Given the description of an element on the screen output the (x, y) to click on. 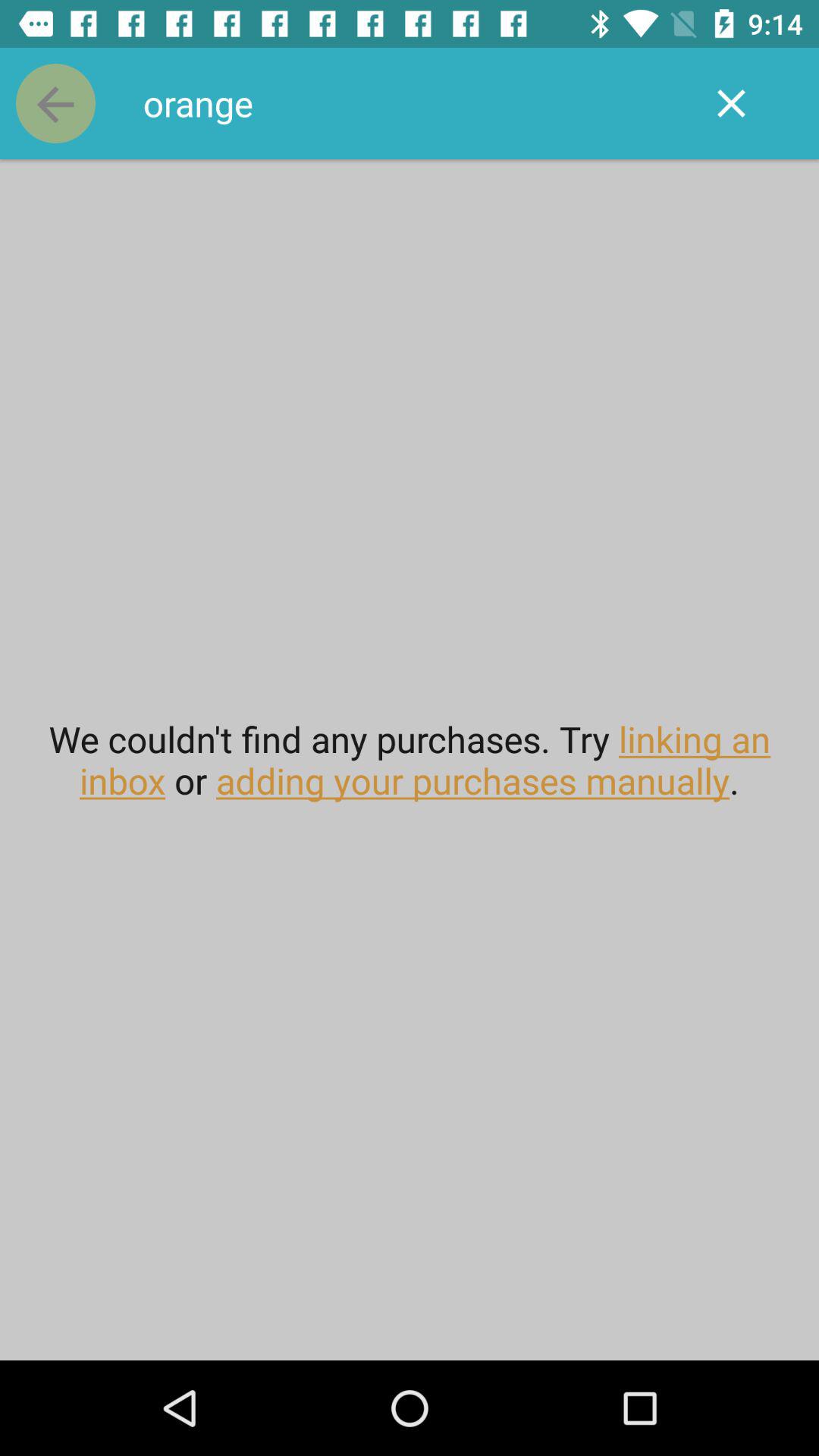
select the icon at the top right corner (731, 103)
